Given the description of an element on the screen output the (x, y) to click on. 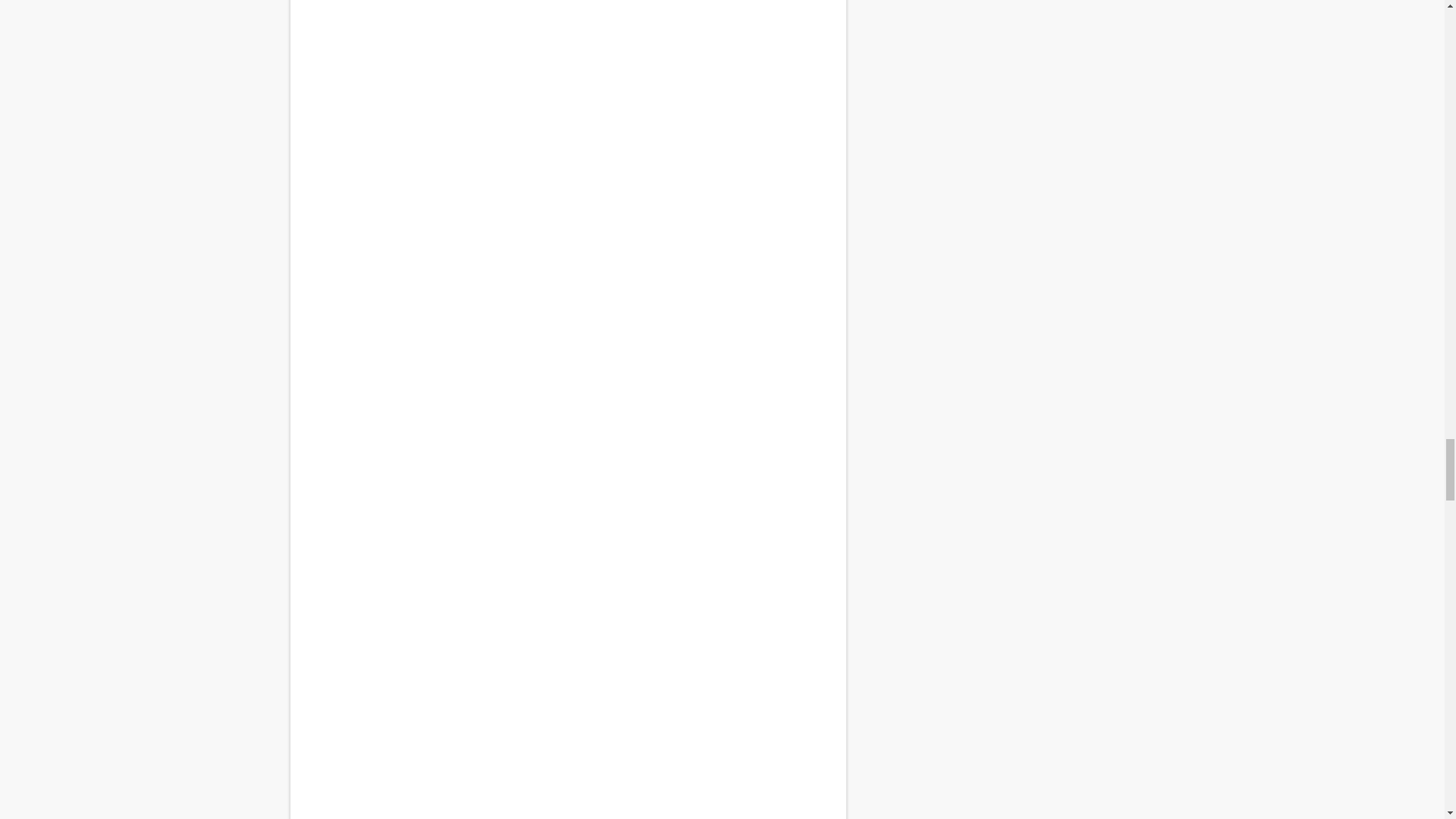
Words Everyday (567, 564)
